Given the description of an element on the screen output the (x, y) to click on. 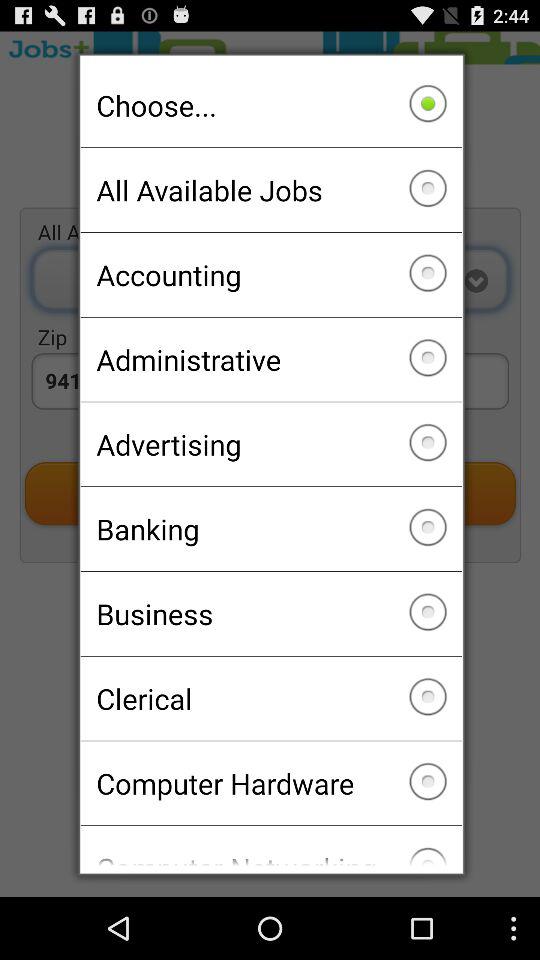
swipe until the administrative icon (270, 359)
